Given the description of an element on the screen output the (x, y) to click on. 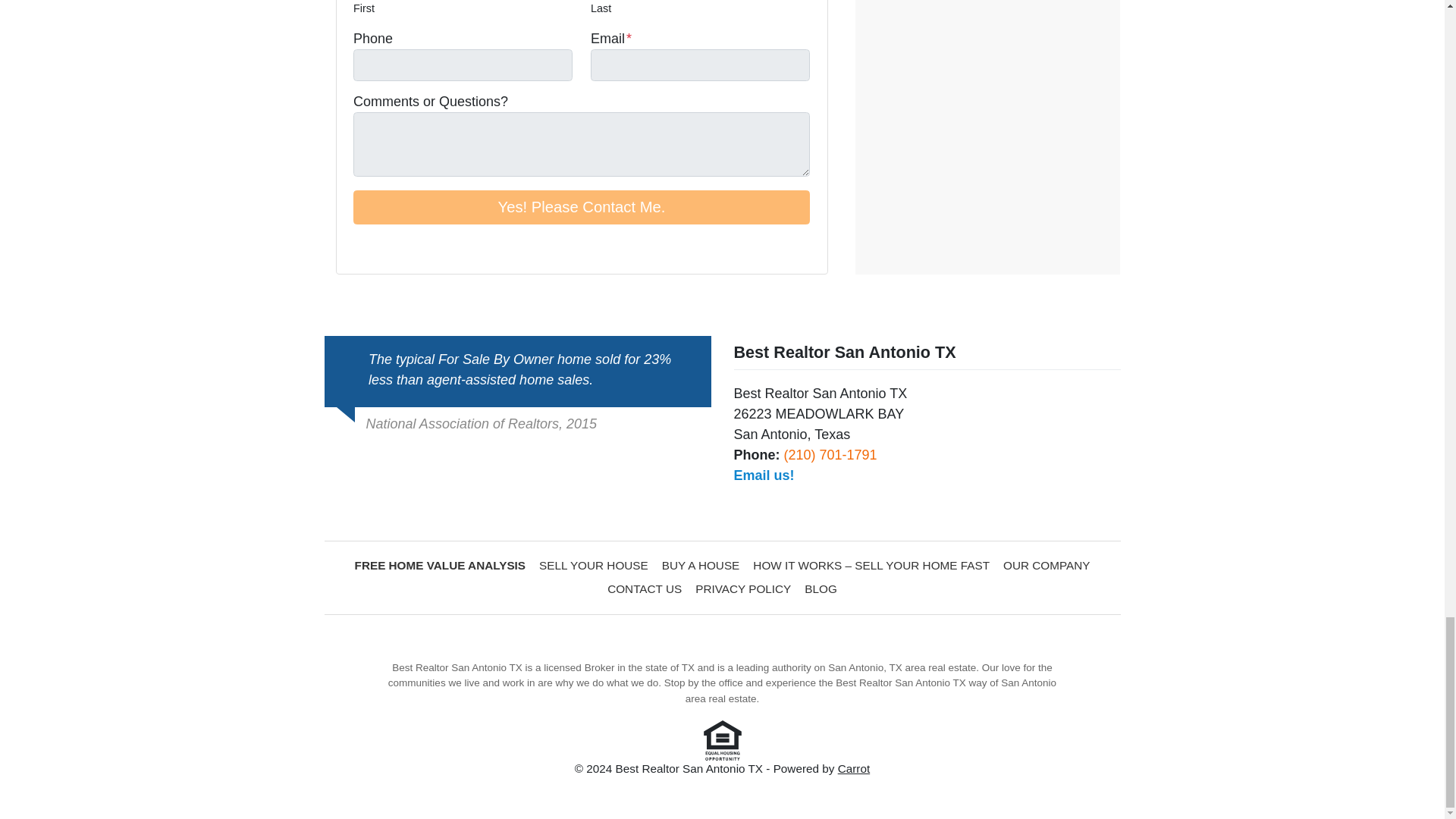
Zillow (404, 247)
PRIVACY POLICY (742, 589)
FREE HOME VALUE ANALYSIS (439, 566)
BUY A HOUSE (700, 566)
Realtor (425, 247)
Yes! Please Contact Me.  (581, 206)
Email us! (763, 475)
SELL YOUR HOUSE (593, 566)
Yes! Please Contact Me.  (581, 206)
Facebook (362, 247)
